Given the description of an element on the screen output the (x, y) to click on. 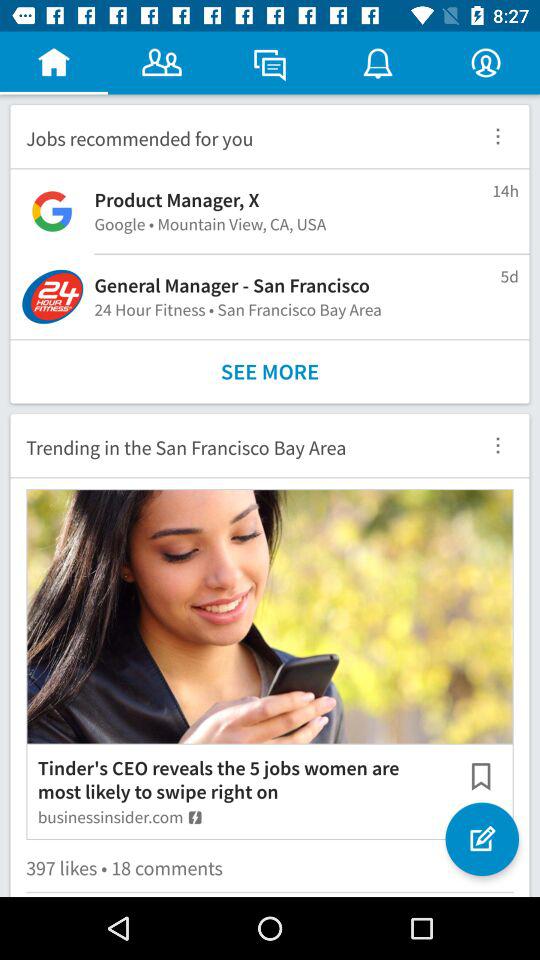
press trending in the (238, 445)
